Given the description of an element on the screen output the (x, y) to click on. 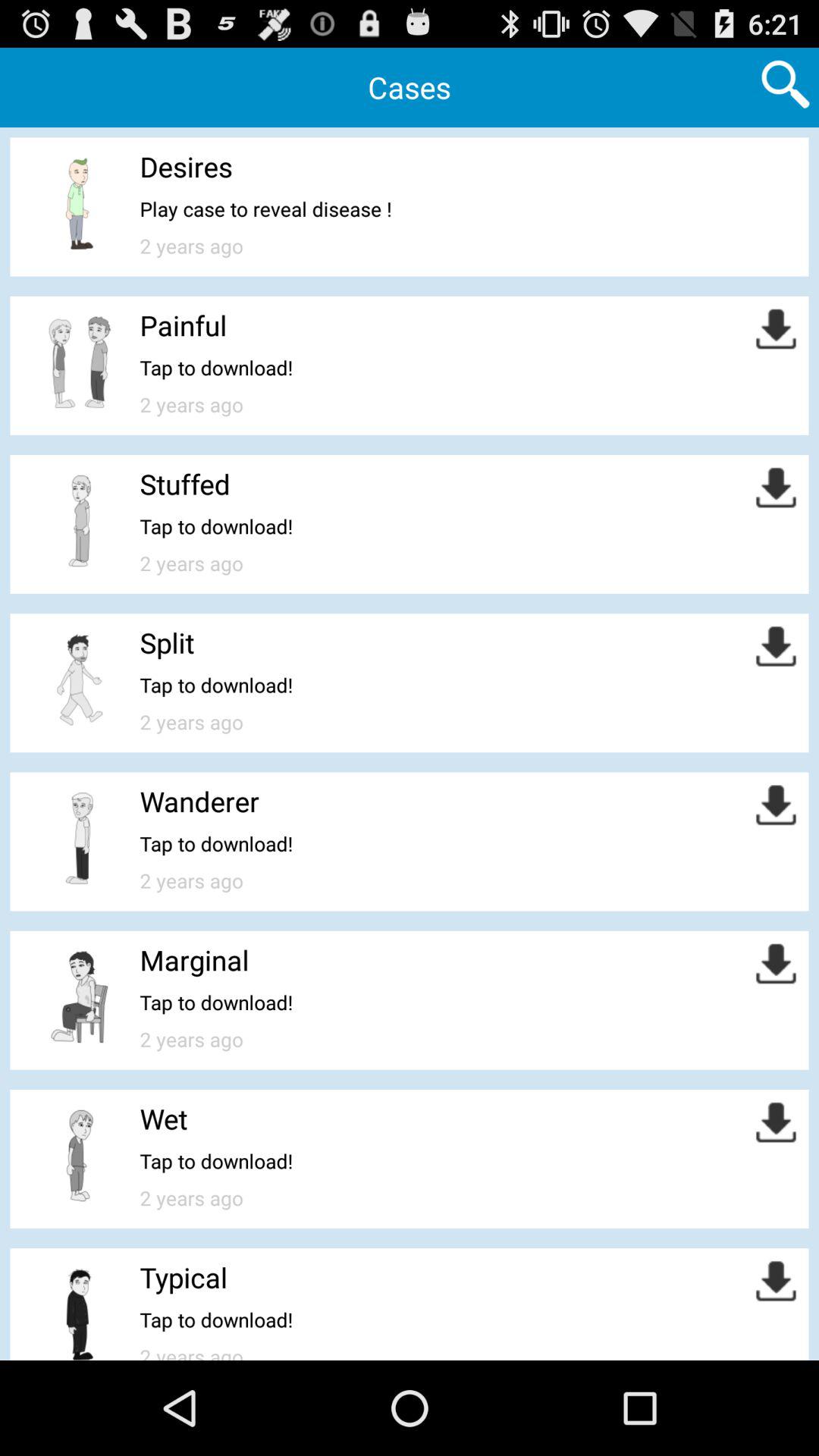
launch the app above tap to download! app (163, 1118)
